Given the description of an element on the screen output the (x, y) to click on. 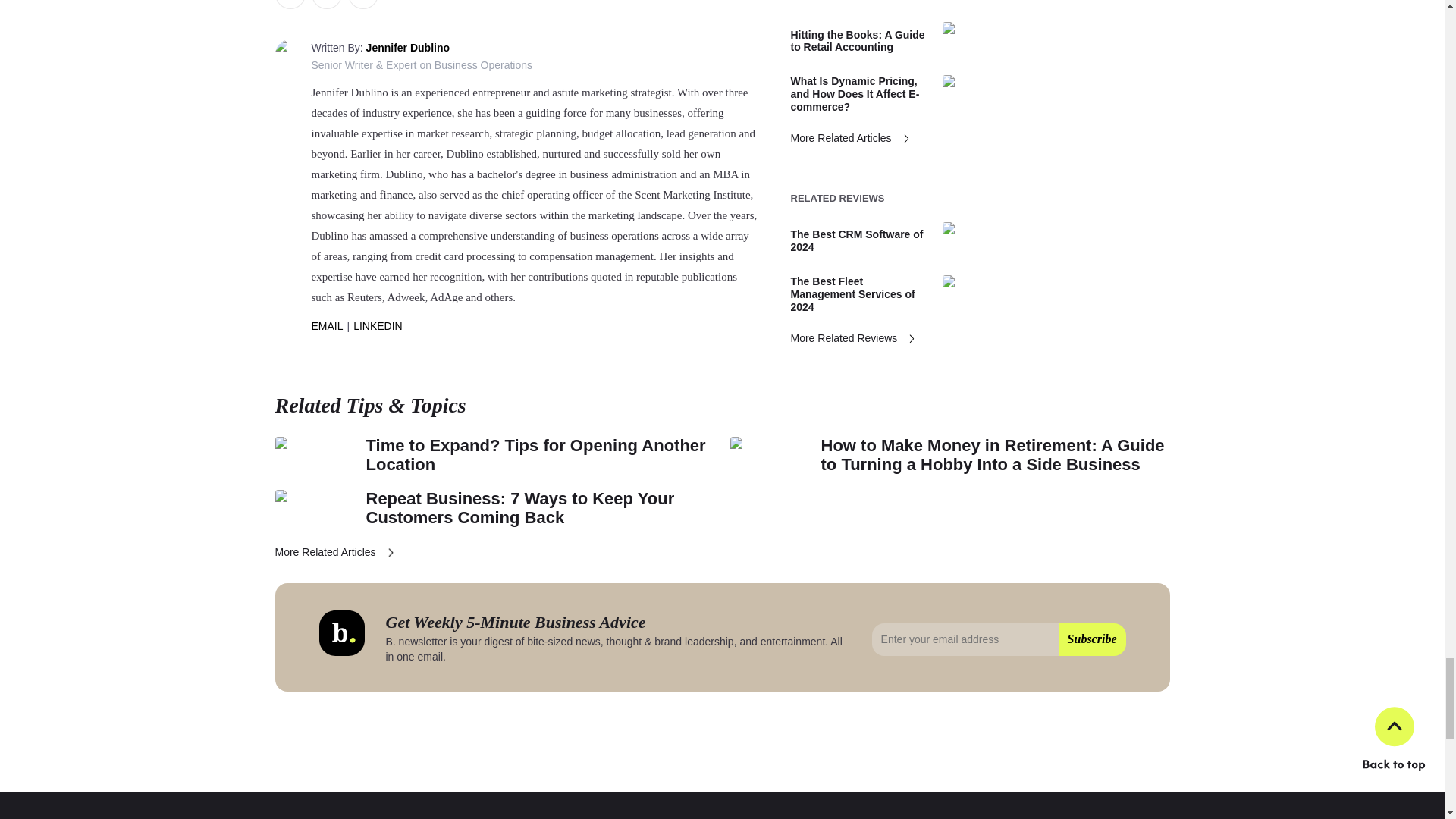
Arrow (390, 551)
